Given the description of an element on the screen output the (x, y) to click on. 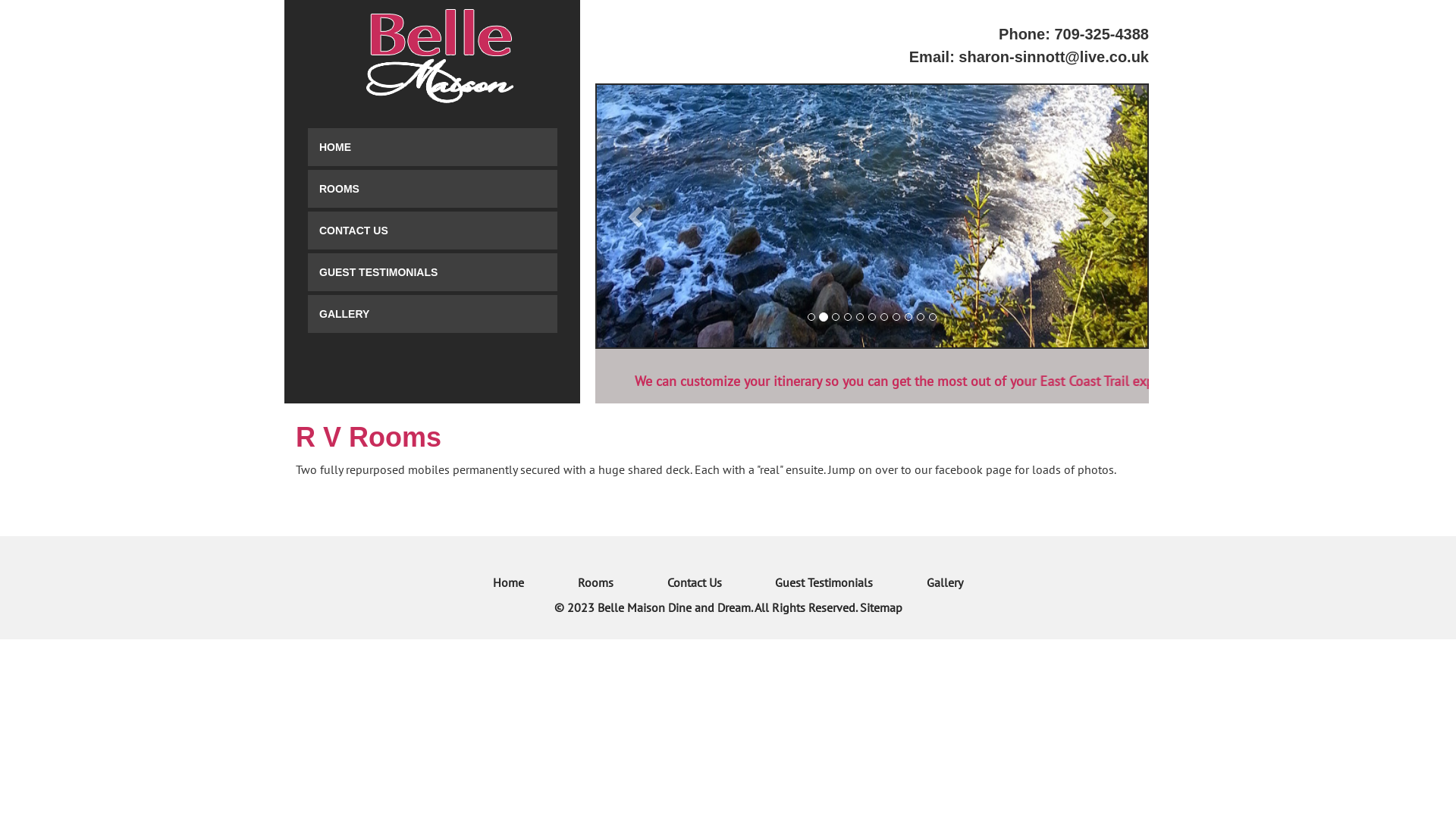
709-325-4388 Element type: text (1101, 33)
Guest Testimonials Element type: text (823, 581)
HOME Element type: text (432, 147)
sharon-sinnott@live.co.uk Element type: text (1053, 56)
GUEST TESTIMONIALS Element type: text (432, 272)
Contact Us Element type: text (693, 581)
GALLERY Element type: text (432, 313)
ROOMS Element type: text (432, 188)
Home Element type: text (508, 581)
Belle Maison Dine and Dream. Element type: text (674, 607)
CONTACT US Element type: text (432, 230)
Sitemap Element type: text (880, 607)
Rooms Element type: text (595, 581)
slide5 Element type: hover (914, 215)
Gallery Element type: text (944, 581)
